Given the description of an element on the screen output the (x, y) to click on. 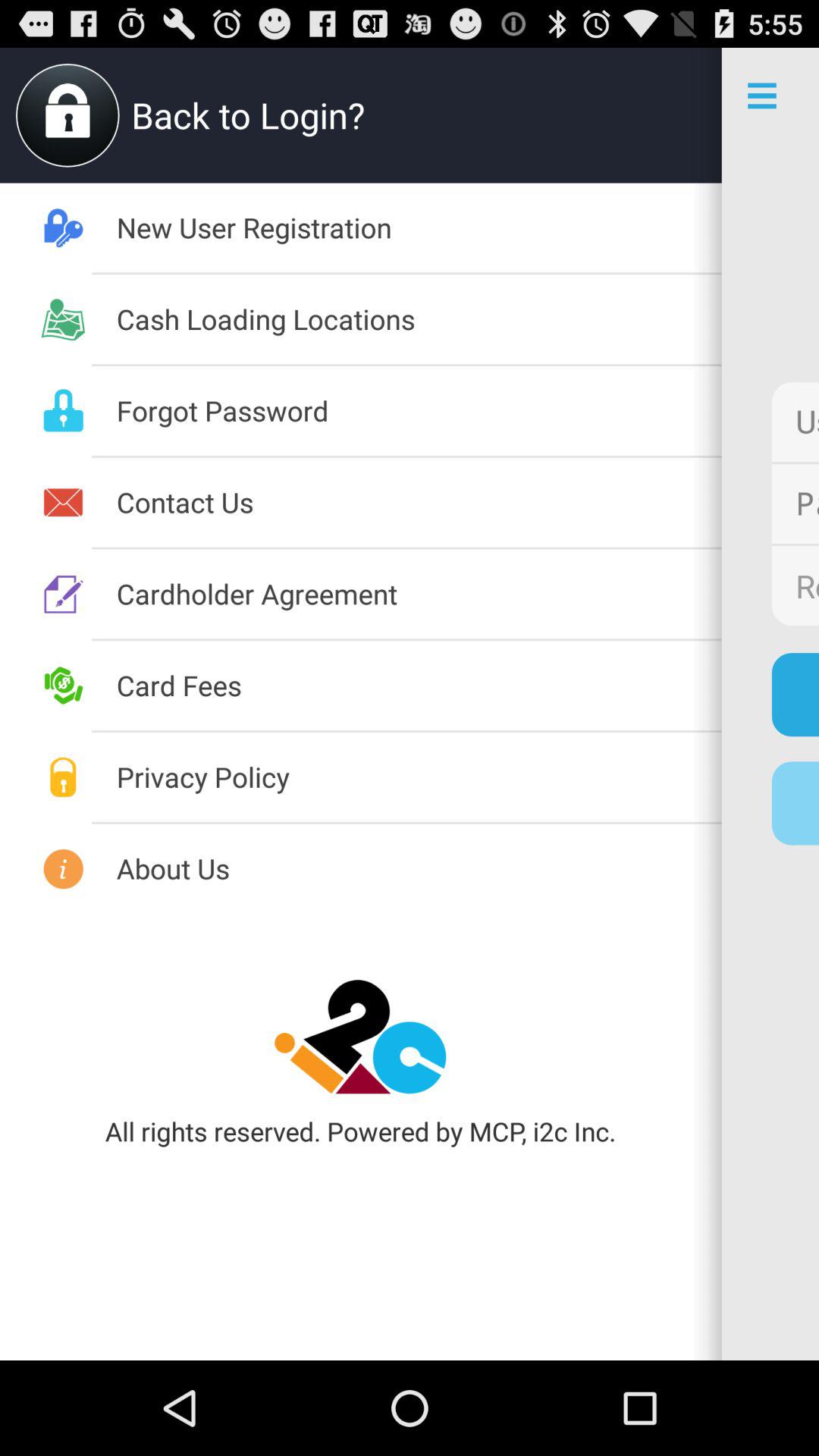
open icon next to remember me item (418, 593)
